Given the description of an element on the screen output the (x, y) to click on. 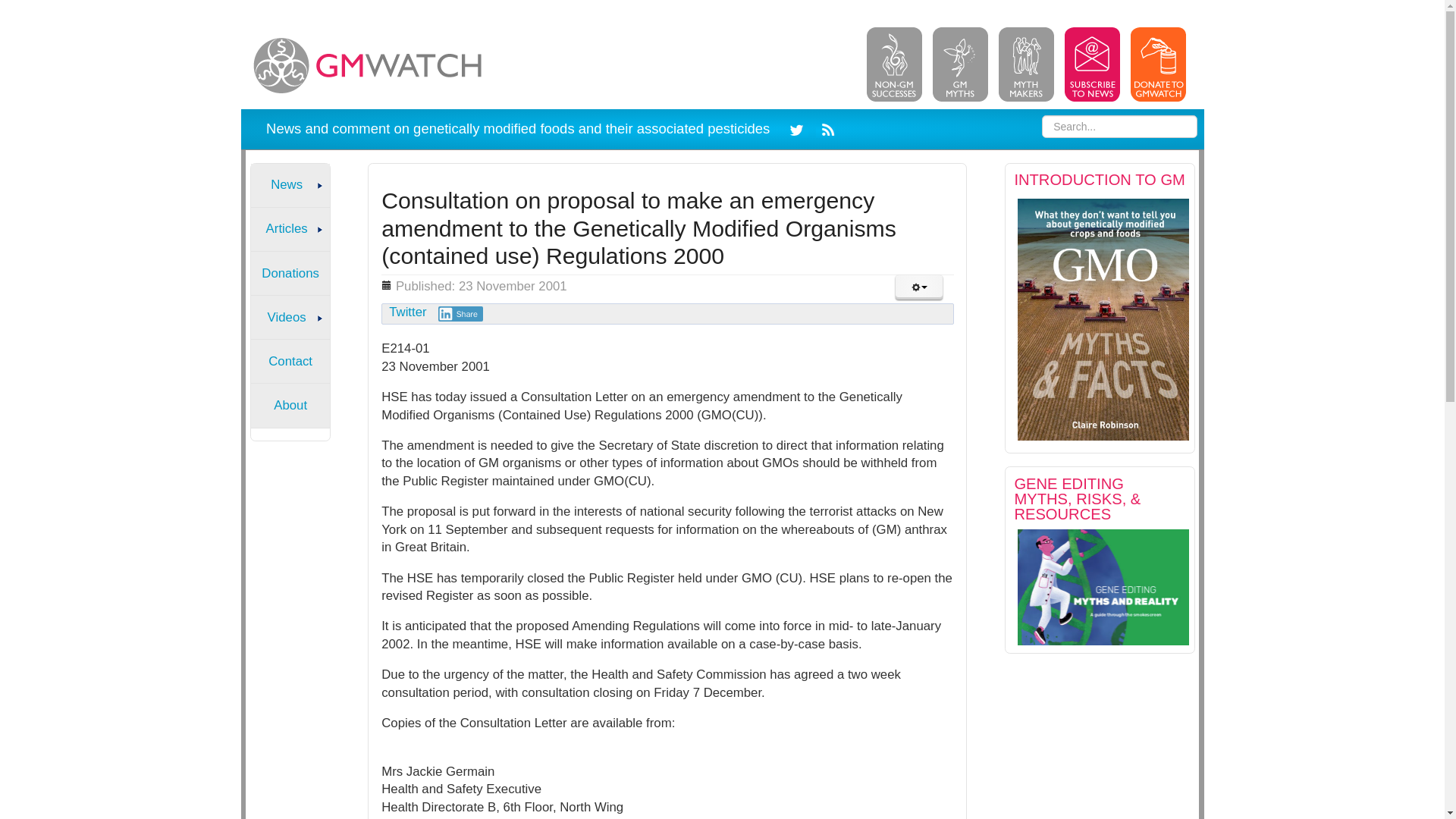
GMWatch Twitter (799, 128)
GMWatch RSS Feed (825, 128)
